Given the description of an element on the screen output the (x, y) to click on. 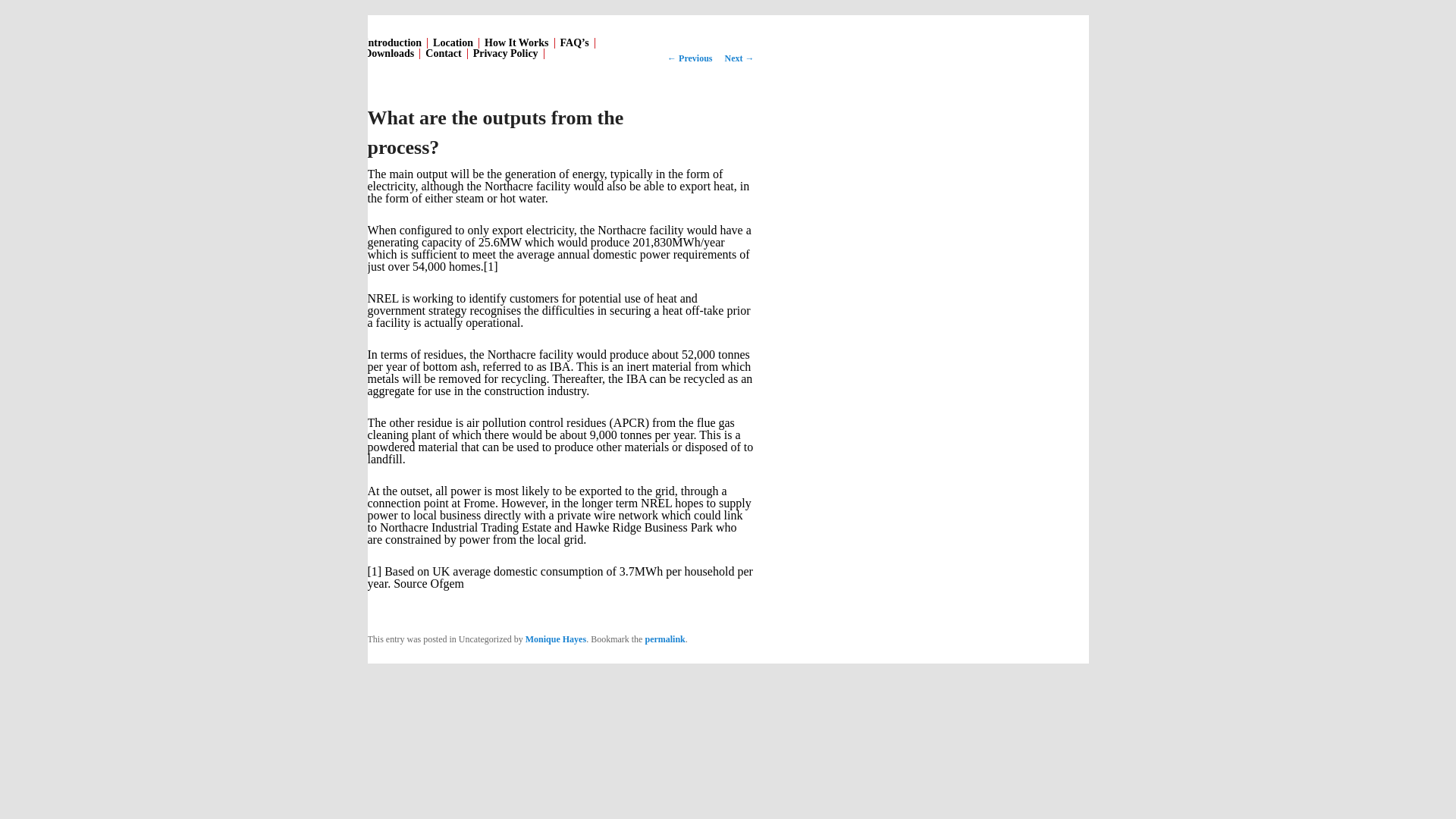
Downloads (389, 53)
Contact (443, 53)
Northacre Renewable Energy (450, 122)
Location (453, 42)
permalink (664, 638)
Permalink to What are the outputs from the process? (664, 638)
Northacre Renewable Energy (450, 122)
How It Works (516, 42)
Introduction (393, 42)
Monique Hayes (555, 638)
Privacy Policy (505, 53)
